Given the description of an element on the screen output the (x, y) to click on. 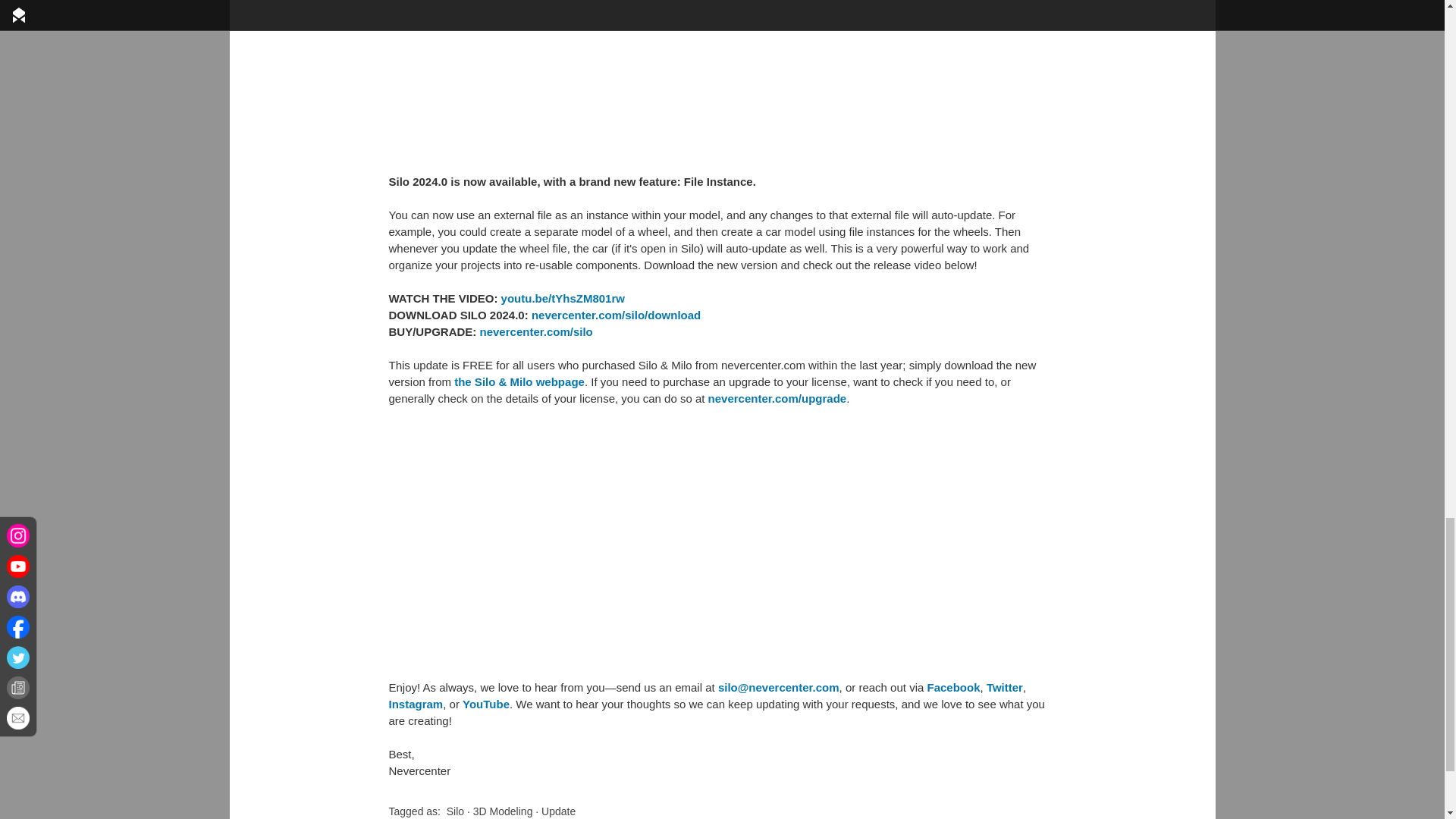
YouTube video player (600, 543)
